Given the description of an element on the screen output the (x, y) to click on. 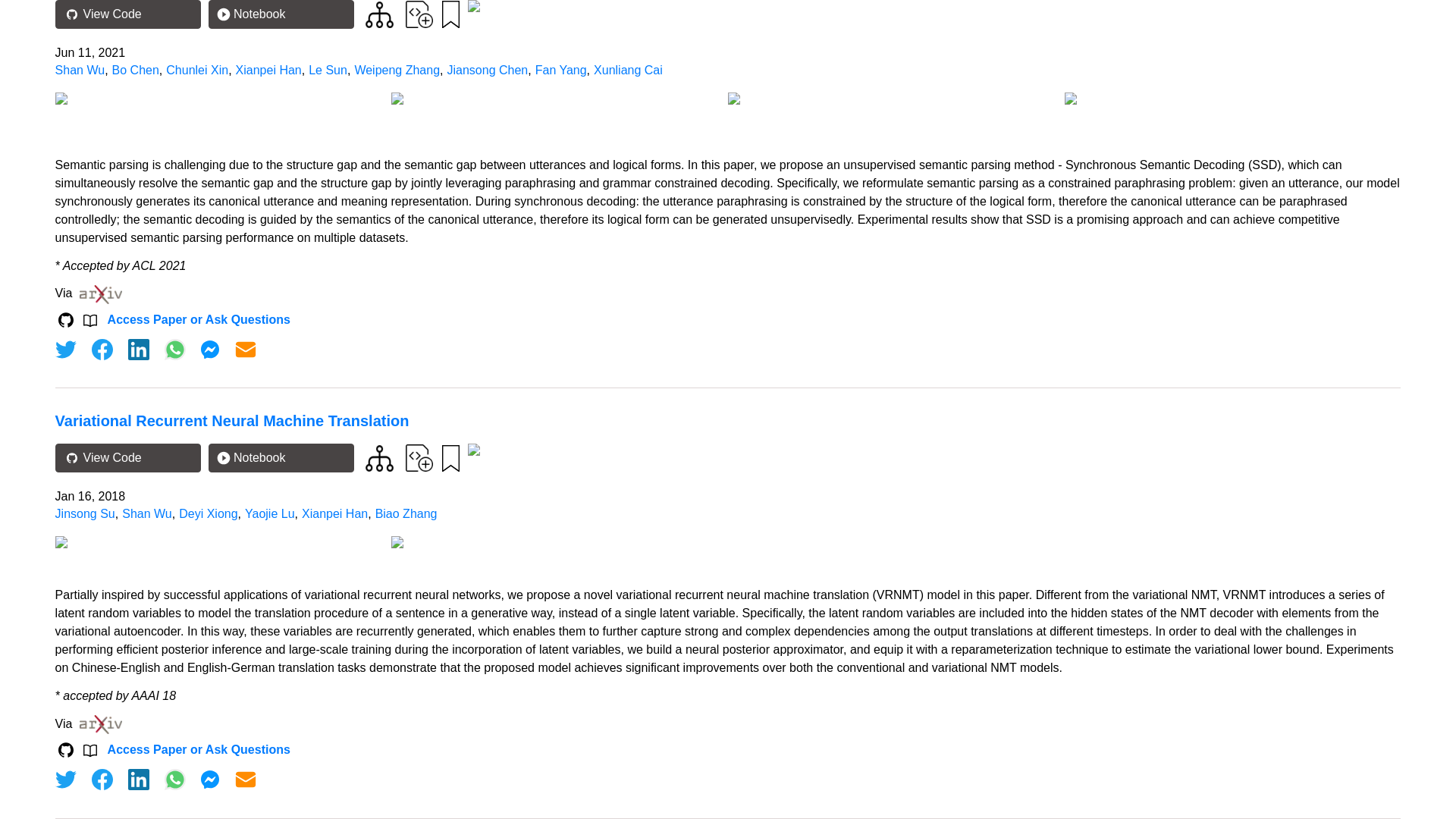
Share via Email (245, 349)
Contribute your code for this paper to the community (419, 13)
View code for similar papers (379, 14)
